Given the description of an element on the screen output the (x, y) to click on. 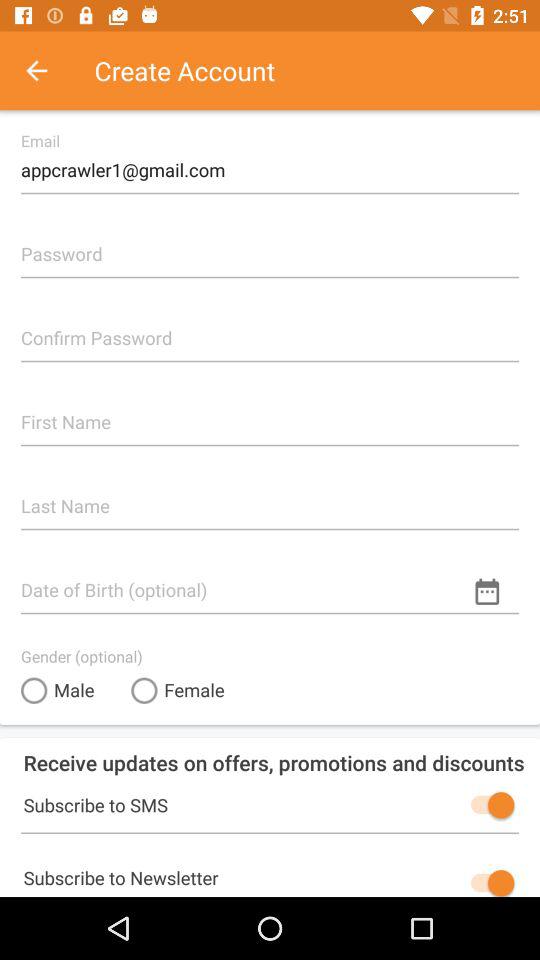
enter your first name (270, 413)
